Given the description of an element on the screen output the (x, y) to click on. 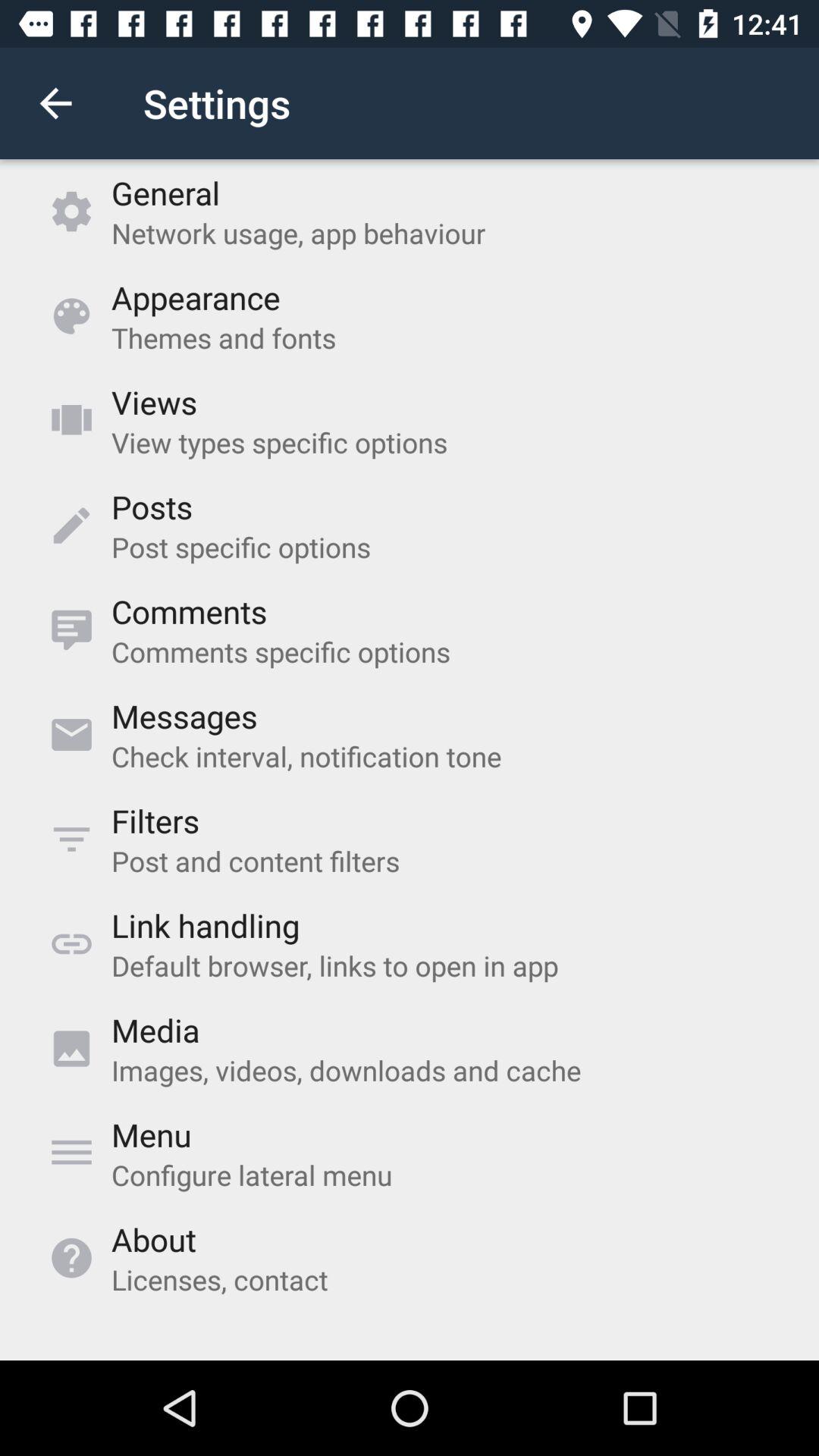
scroll to the appearance (195, 297)
